Given the description of an element on the screen output the (x, y) to click on. 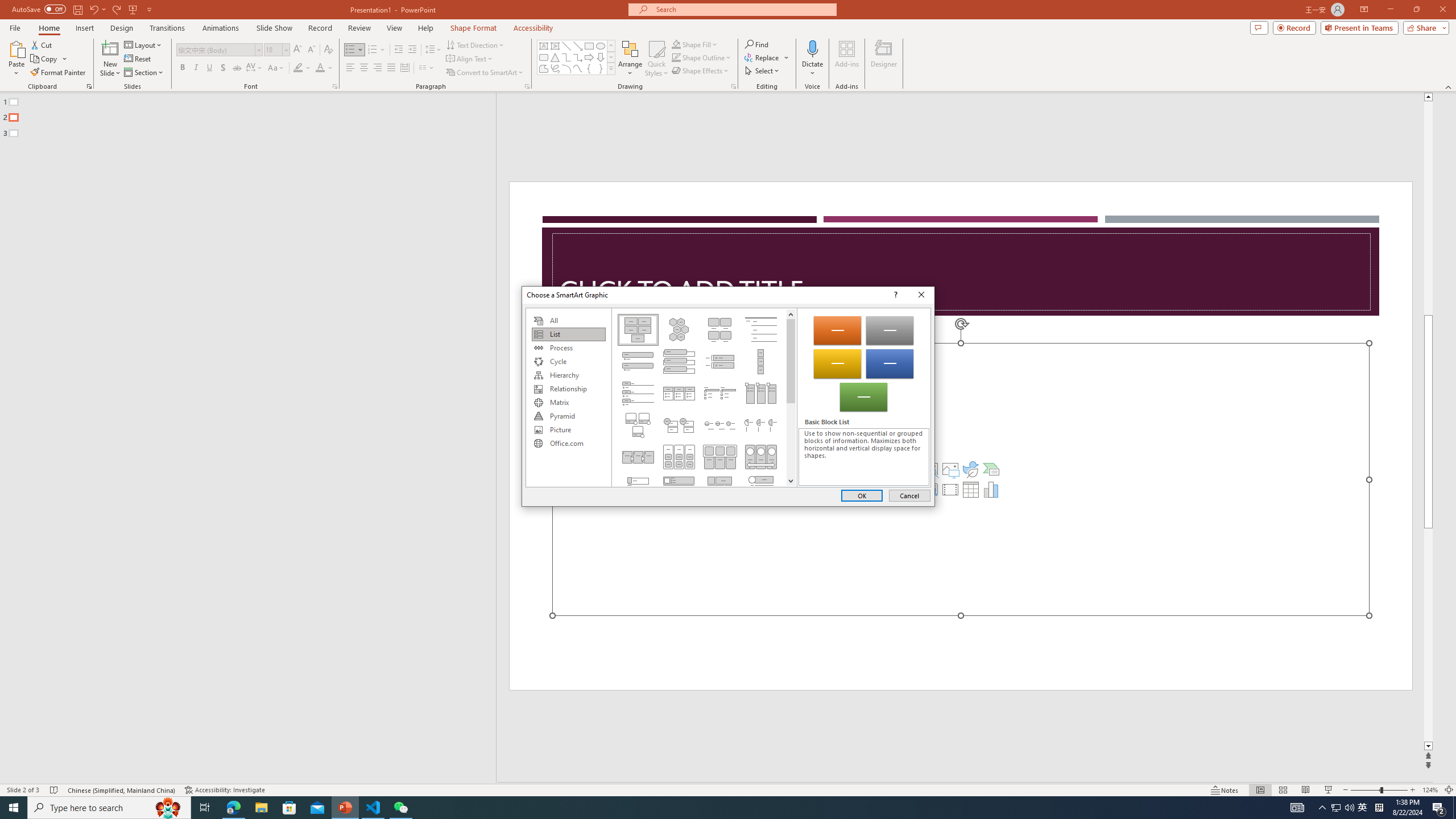
All (568, 320)
Numbering (372, 49)
Insert a SmartArt Graphic (991, 469)
File Explorer (261, 807)
Insert Video (949, 489)
Vertical Bullet List (637, 361)
Office.com (568, 443)
Text Highlight Color (302, 67)
Row up (611, 45)
Dictate (812, 48)
Picture Caption List (719, 329)
Hierarchy (568, 375)
Zoom Out (1365, 790)
